Given the description of an element on the screen output the (x, y) to click on. 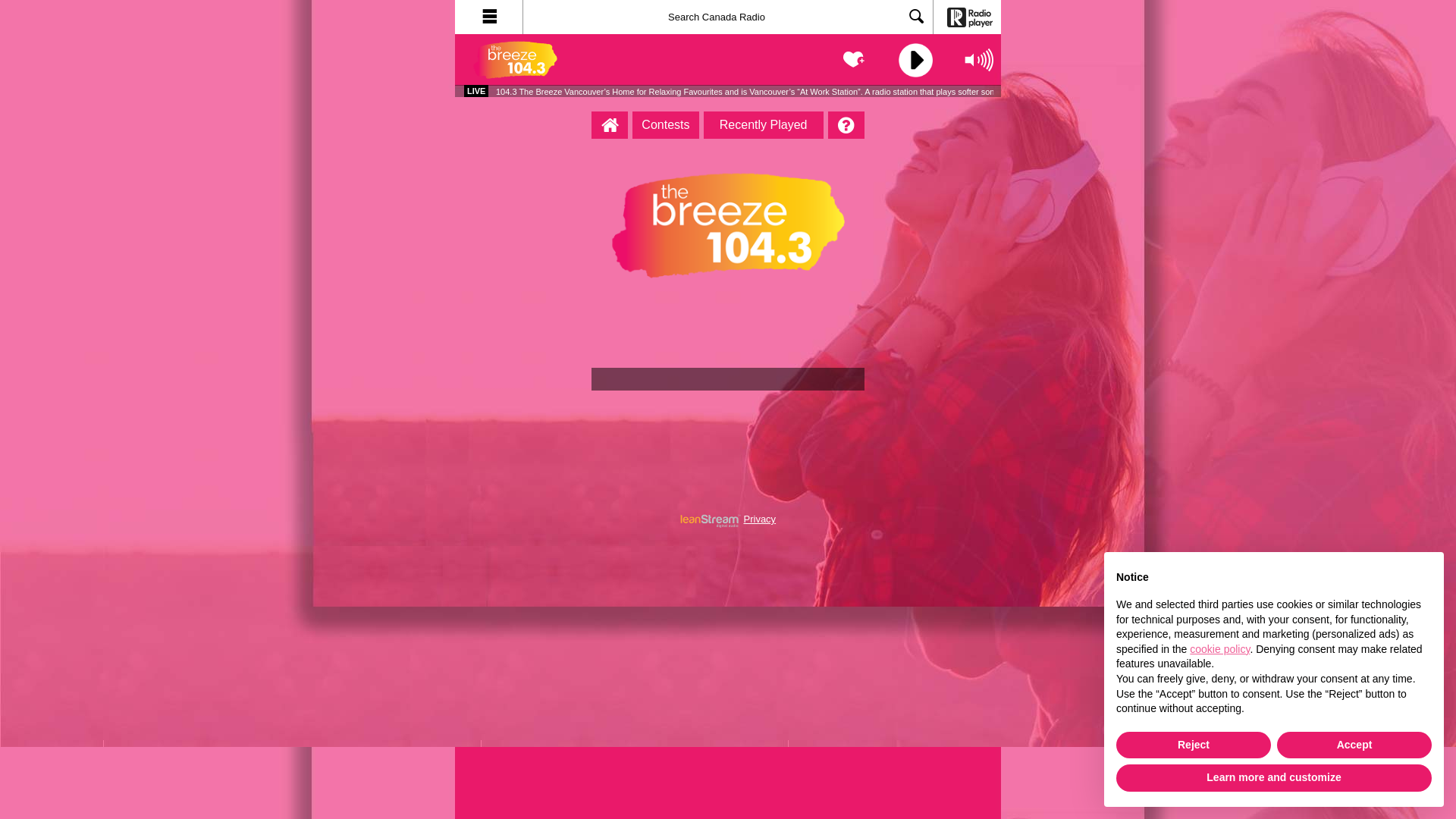
Search Element type: text (916, 17)
Open Radioplayer Menu Element type: text (489, 17)
Accept Element type: text (1354, 745)
Recently Played Element type: text (763, 124)
Toggle this station in My Stations Element type: text (854, 59)
cookie policy Element type: text (1219, 649)
Set volume to 20% Element type: text (970, 85)
Play Element type: text (913, 60)
Reject Element type: text (1193, 745)
Learn more and customize Element type: text (1273, 777)
Contests Element type: text (665, 124)
Privacy Element type: text (759, 519)
